Given the description of an element on the screen output the (x, y) to click on. 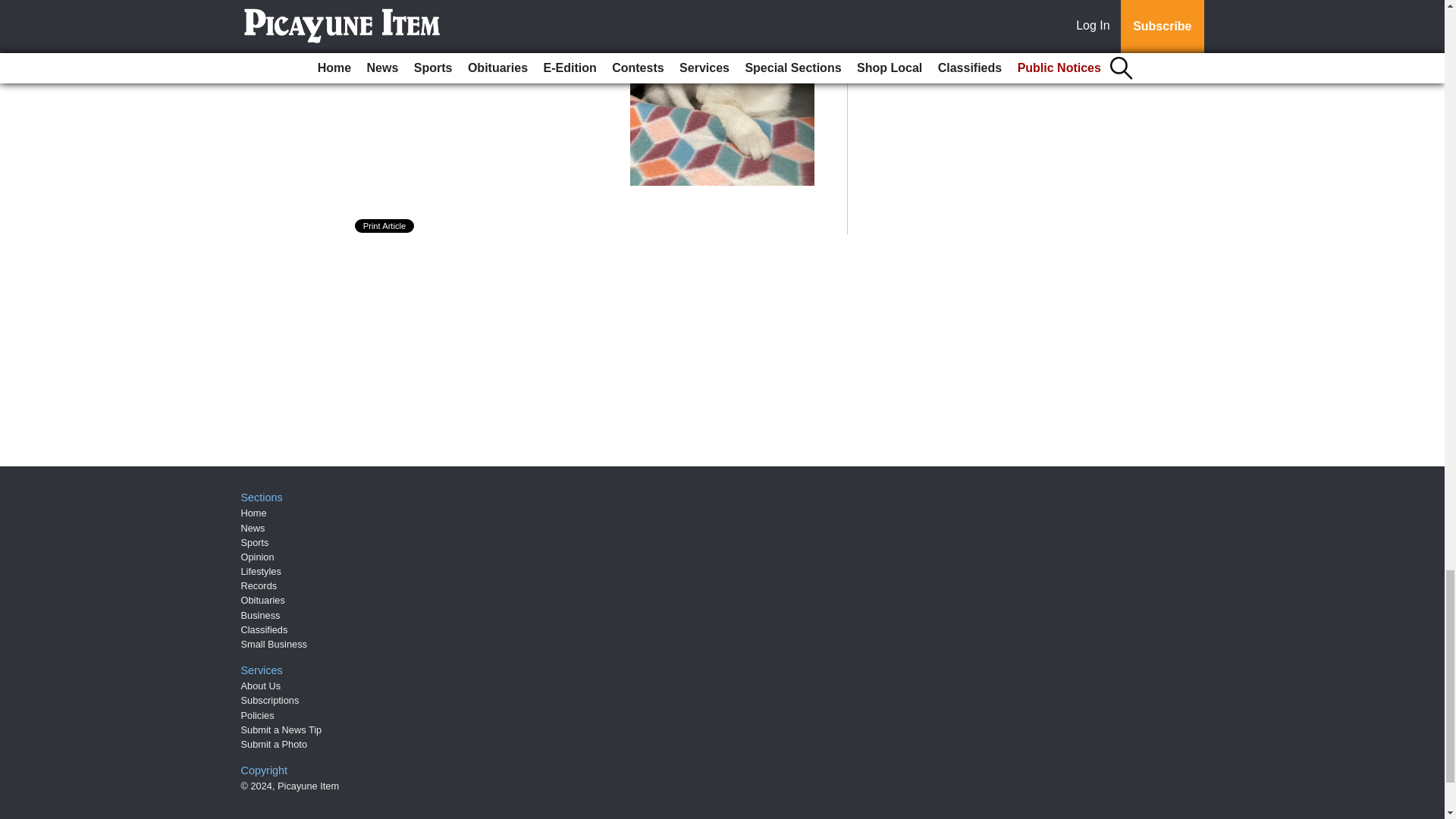
Print Article (384, 225)
